Given the description of an element on the screen output the (x, y) to click on. 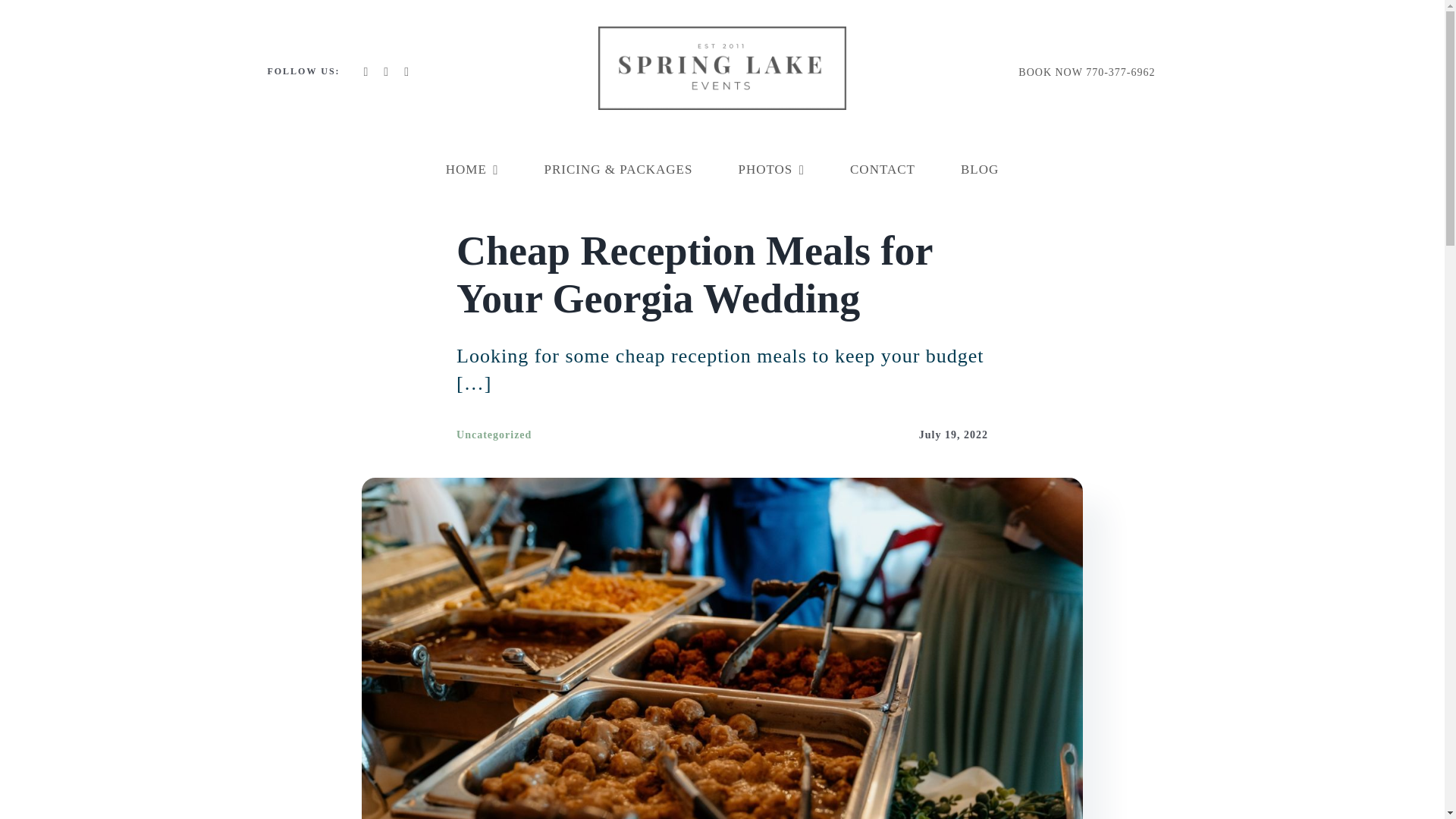
Twitter (386, 71)
Uncategorized (494, 434)
CONTACT (882, 169)
BOOK NOW 770-377-6962 (1085, 72)
Instagram (406, 71)
HOME (472, 169)
PHOTOS (771, 169)
Facebook (365, 71)
BLOG (979, 169)
